Given the description of an element on the screen output the (x, y) to click on. 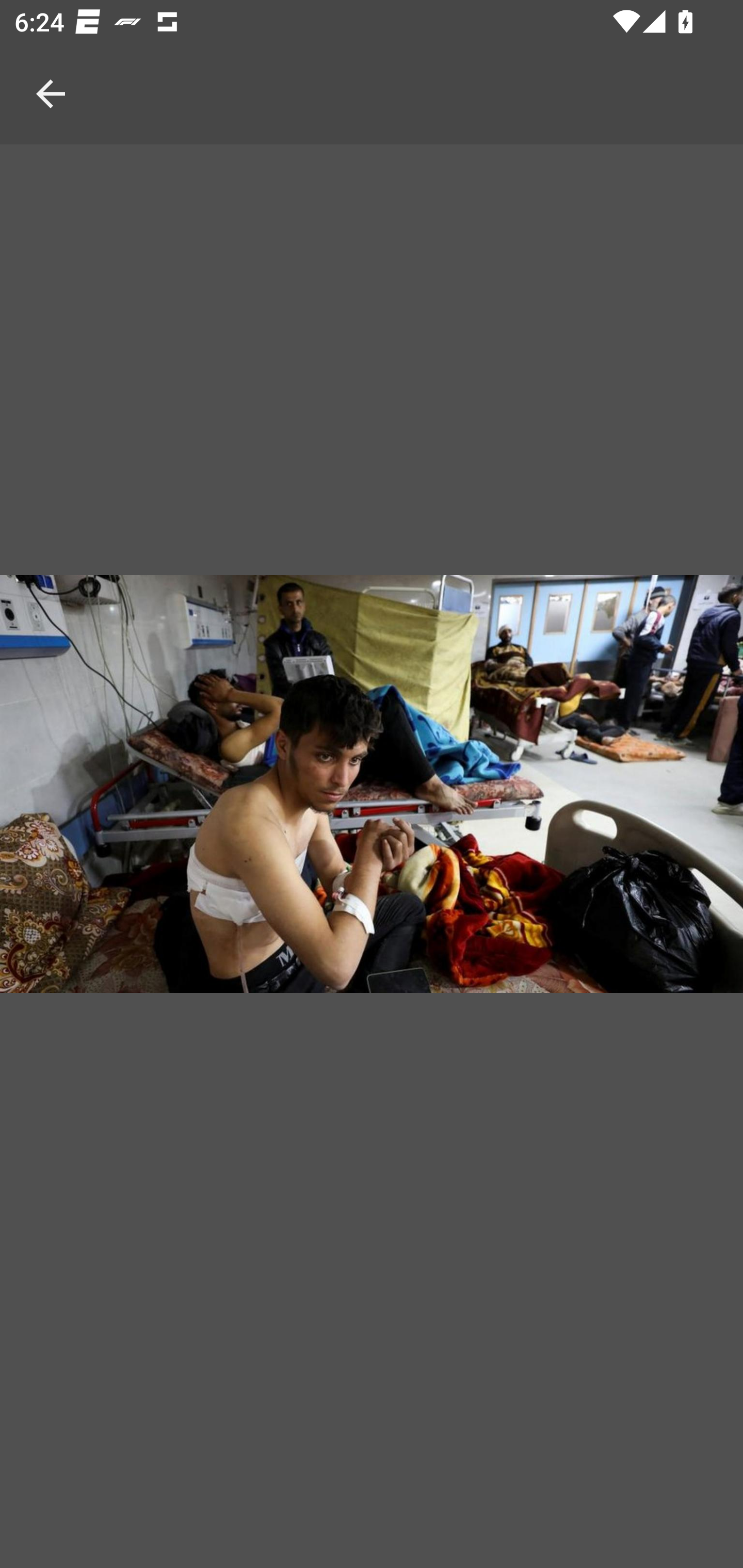
Back (50, 72)
